Given the description of an element on the screen output the (x, y) to click on. 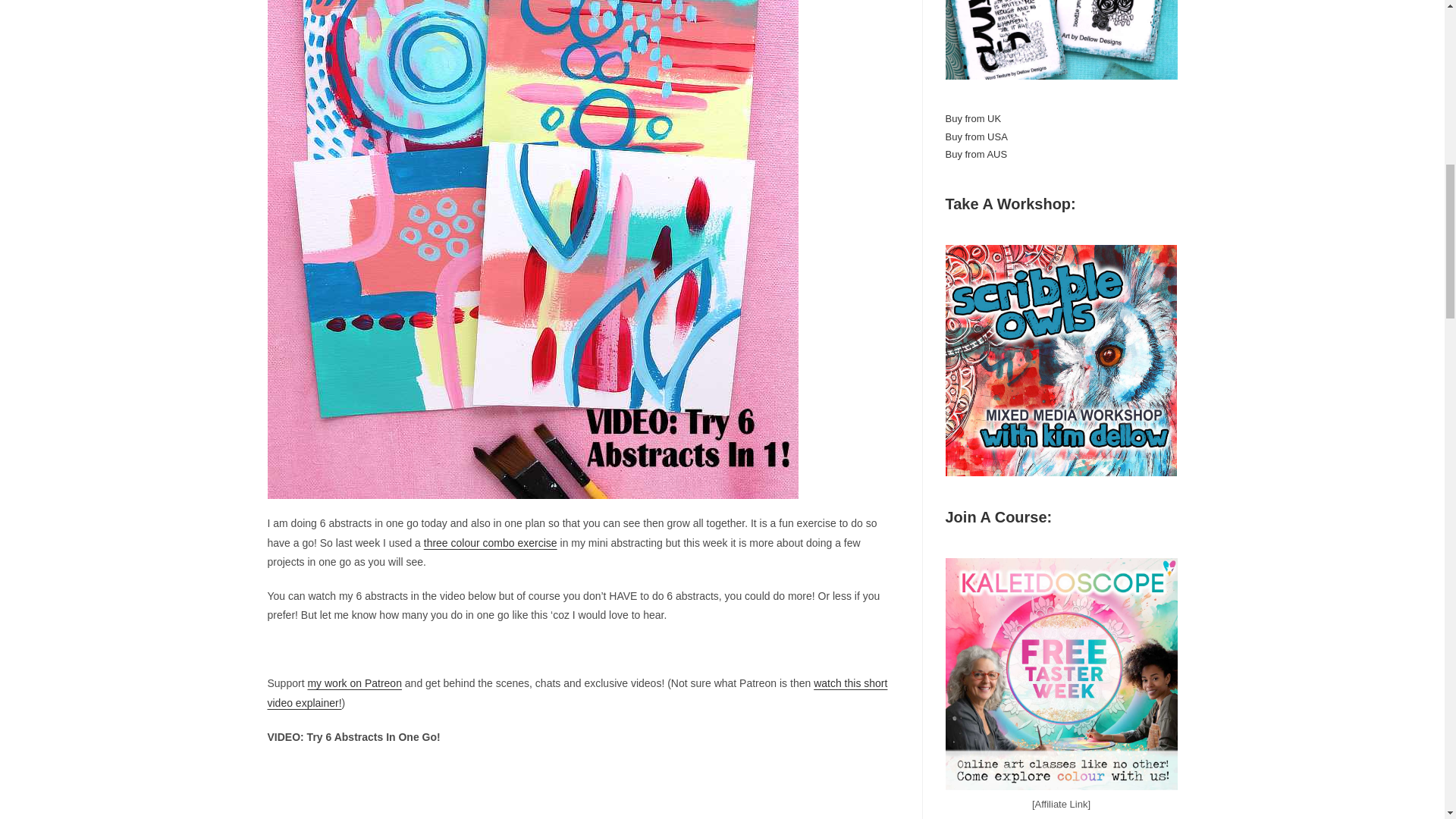
watch this short video explainer! (576, 692)
my work on Patreon (354, 683)
three colour combo exercise (490, 542)
